Given the description of an element on the screen output the (x, y) to click on. 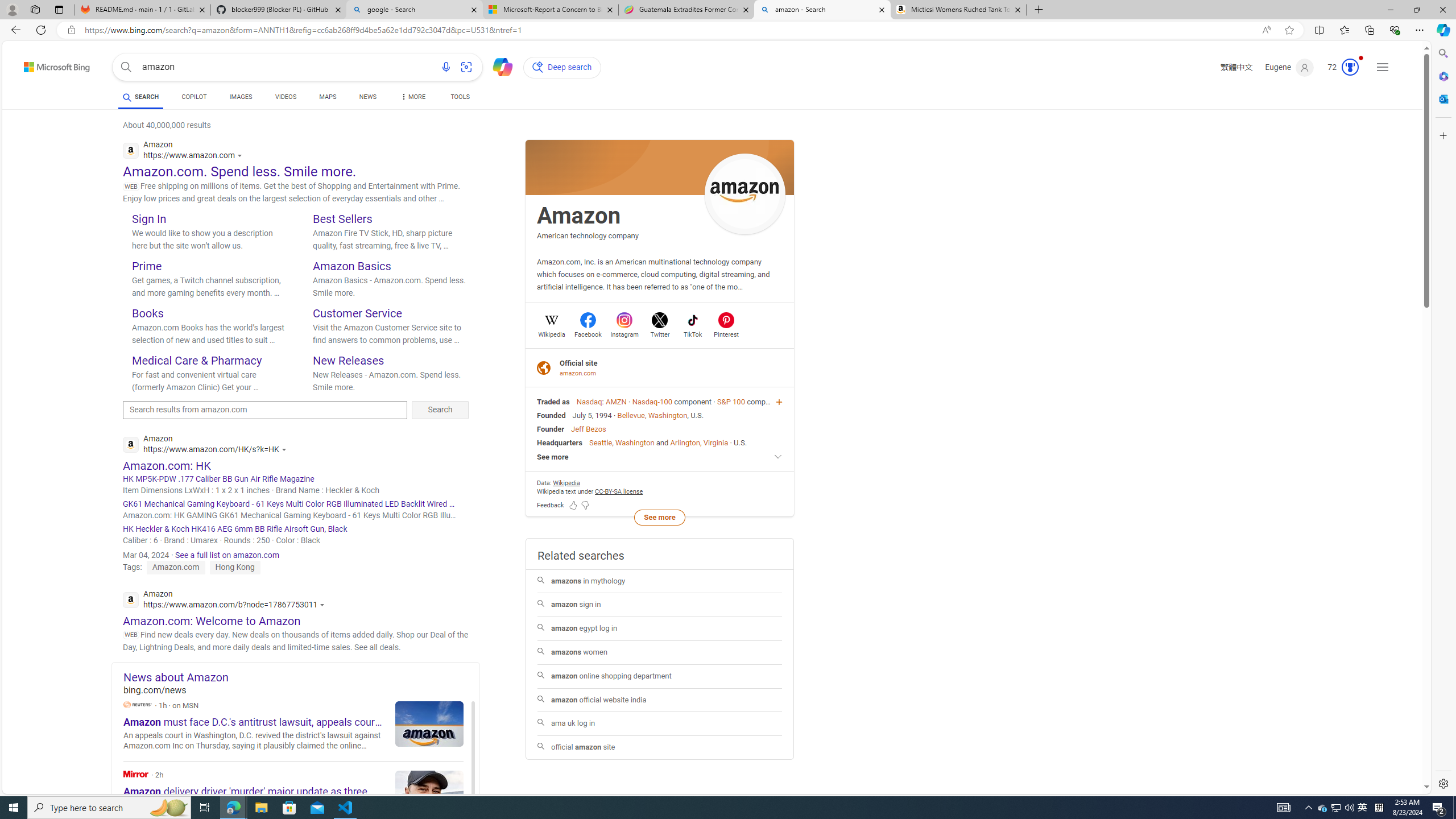
AMZN (615, 401)
VIDEOS (285, 96)
Microsoft-Report a Concern to Bing (550, 9)
amazon sign in (659, 604)
Pinterest (726, 333)
Official siteamazon.com (660, 367)
Class: spl_logobg (659, 167)
Global web icon (130, 599)
amazon official website india (659, 699)
See more images of Amazon (745, 194)
